Given the description of an element on the screen output the (x, y) to click on. 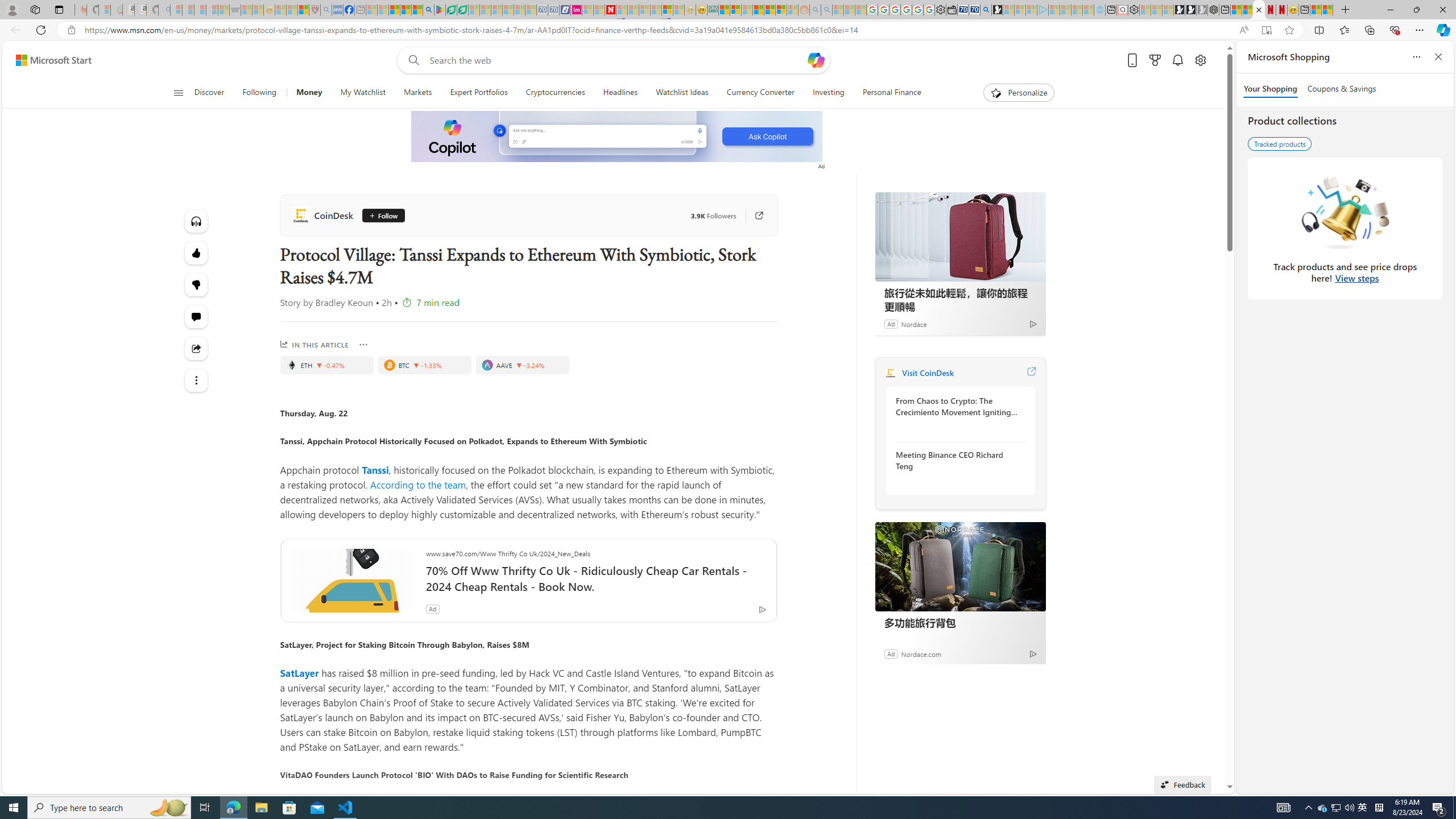
Investing (828, 92)
My Watchlist (362, 92)
Terms of Use Agreement (451, 9)
